Given the description of an element on the screen output the (x, y) to click on. 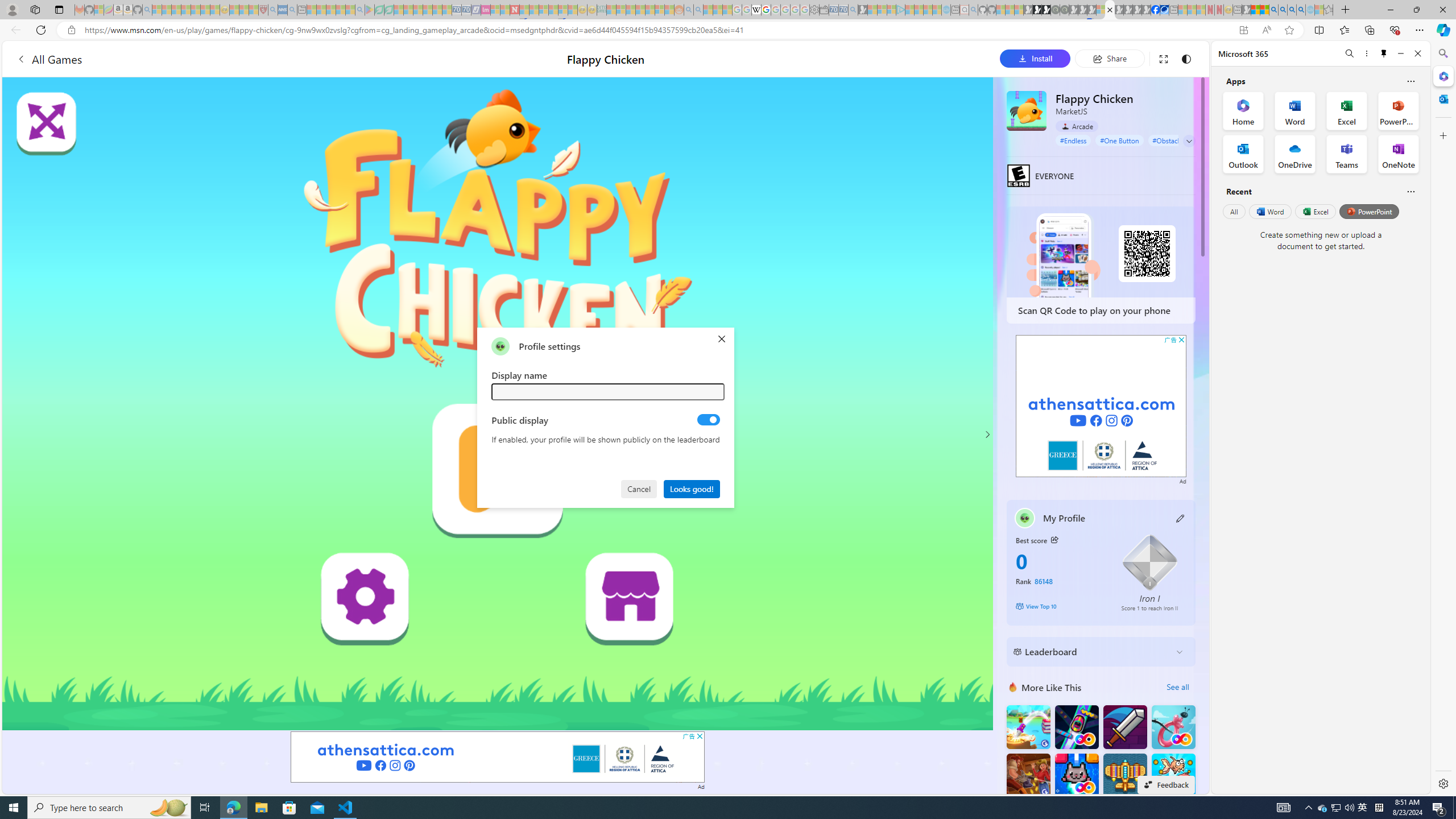
Cancel (639, 488)
Class: button (1053, 539)
Install (1034, 58)
The Weather Channel - MSN - Sleeping (175, 9)
MSN - Sleeping (1246, 9)
Word Office App (1295, 110)
Target page - Wikipedia (755, 9)
All (1233, 210)
Home Office App (1243, 110)
Share (1109, 58)
